Given the description of an element on the screen output the (x, y) to click on. 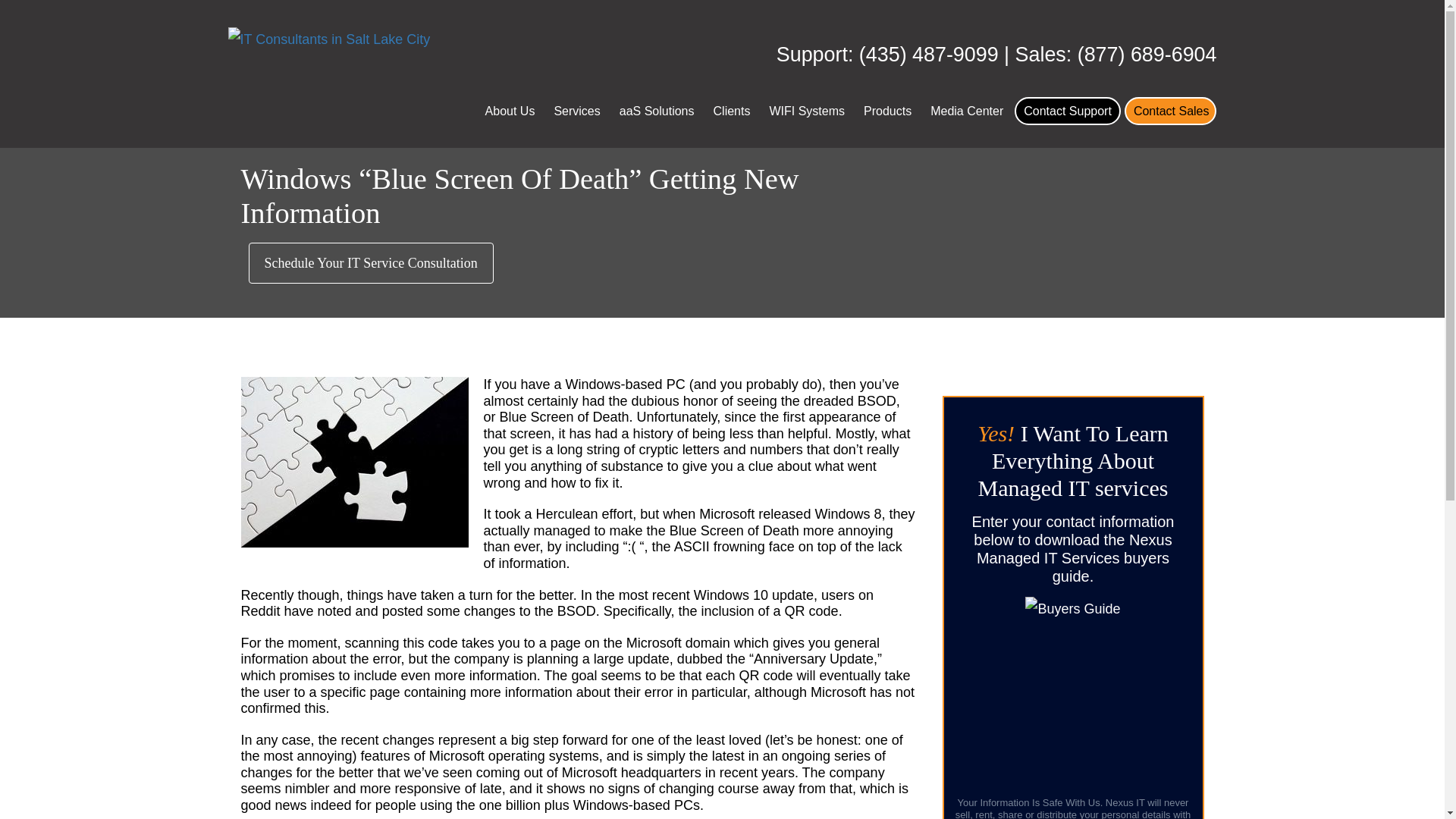
About Us (509, 111)
Services (576, 111)
aaS Solutions (657, 111)
Clients (732, 111)
